Given the description of an element on the screen output the (x, y) to click on. 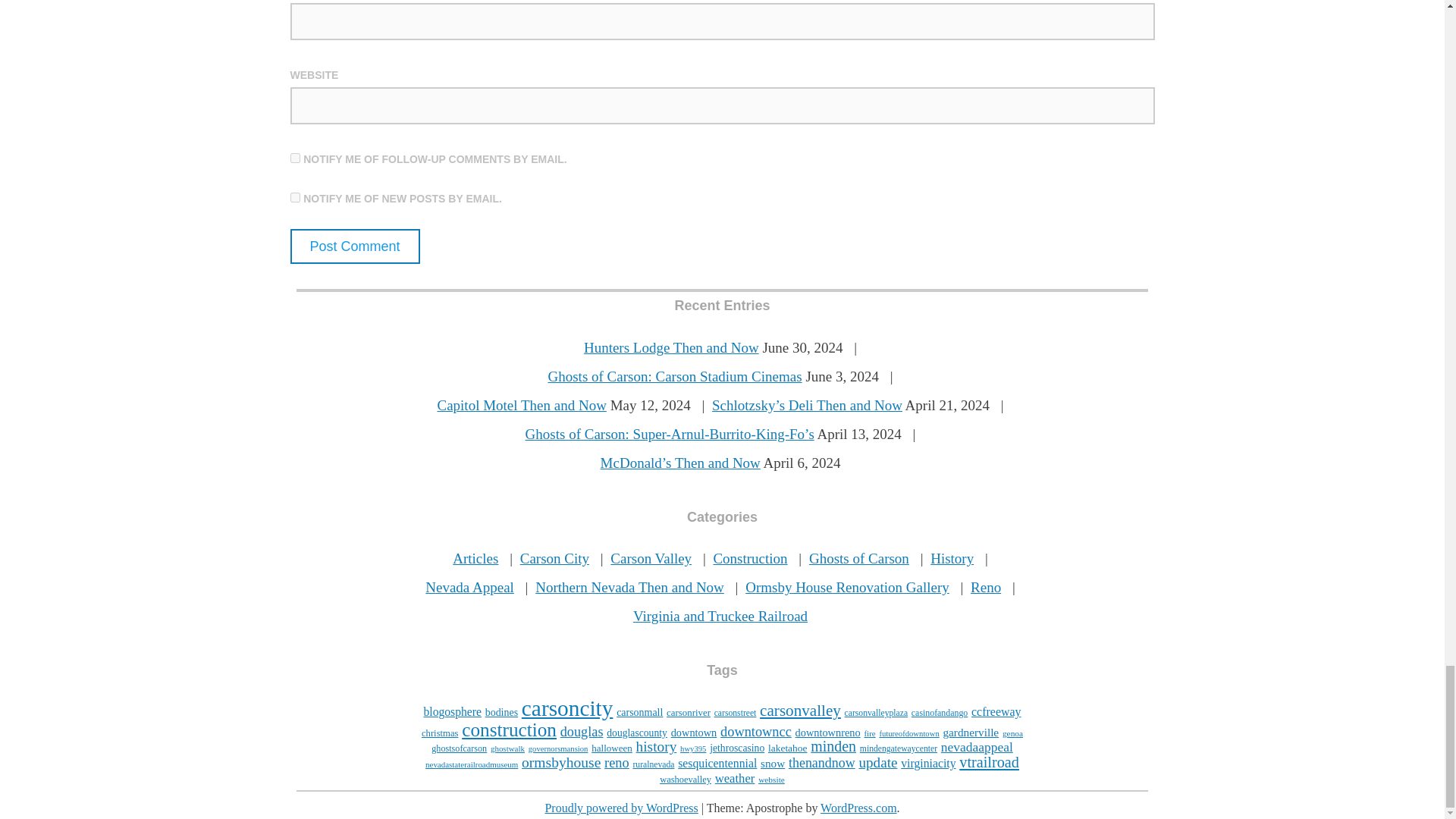
Post Comment (354, 246)
Post Comment (354, 246)
subscribe (294, 197)
Hunters Lodge Then and Now (670, 347)
subscribe (294, 157)
